Given the description of an element on the screen output the (x, y) to click on. 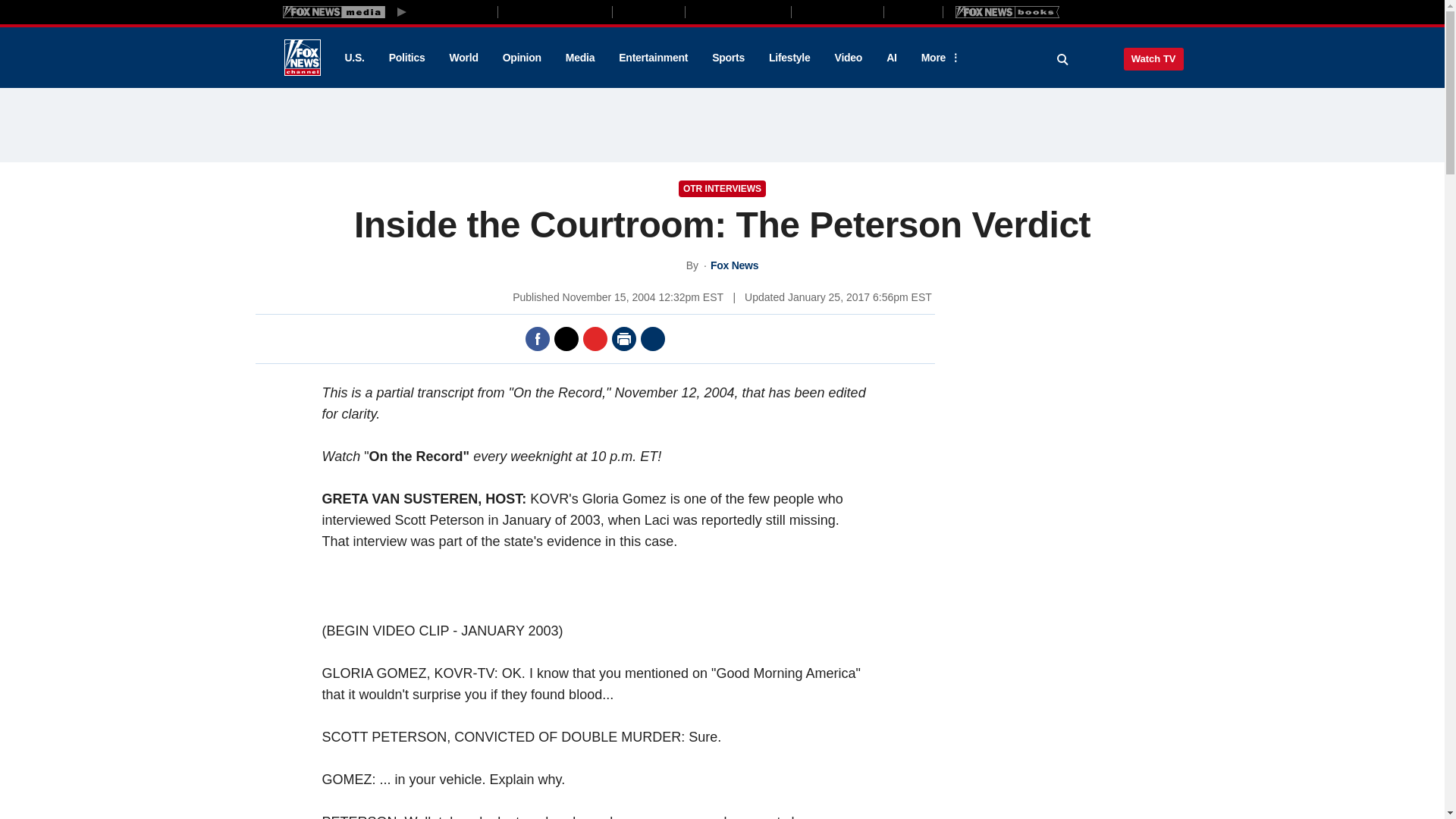
Opinion (521, 57)
Fox News Audio (737, 11)
Lifestyle (789, 57)
Watch TV (1153, 58)
Books (1007, 11)
Fox Weather (836, 11)
Fox News Media (453, 11)
Politics (407, 57)
Sports (728, 57)
Entertainment (653, 57)
Fox News (301, 57)
Outkick (912, 11)
AI (891, 57)
World (464, 57)
U.S. (353, 57)
